Given the description of an element on the screen output the (x, y) to click on. 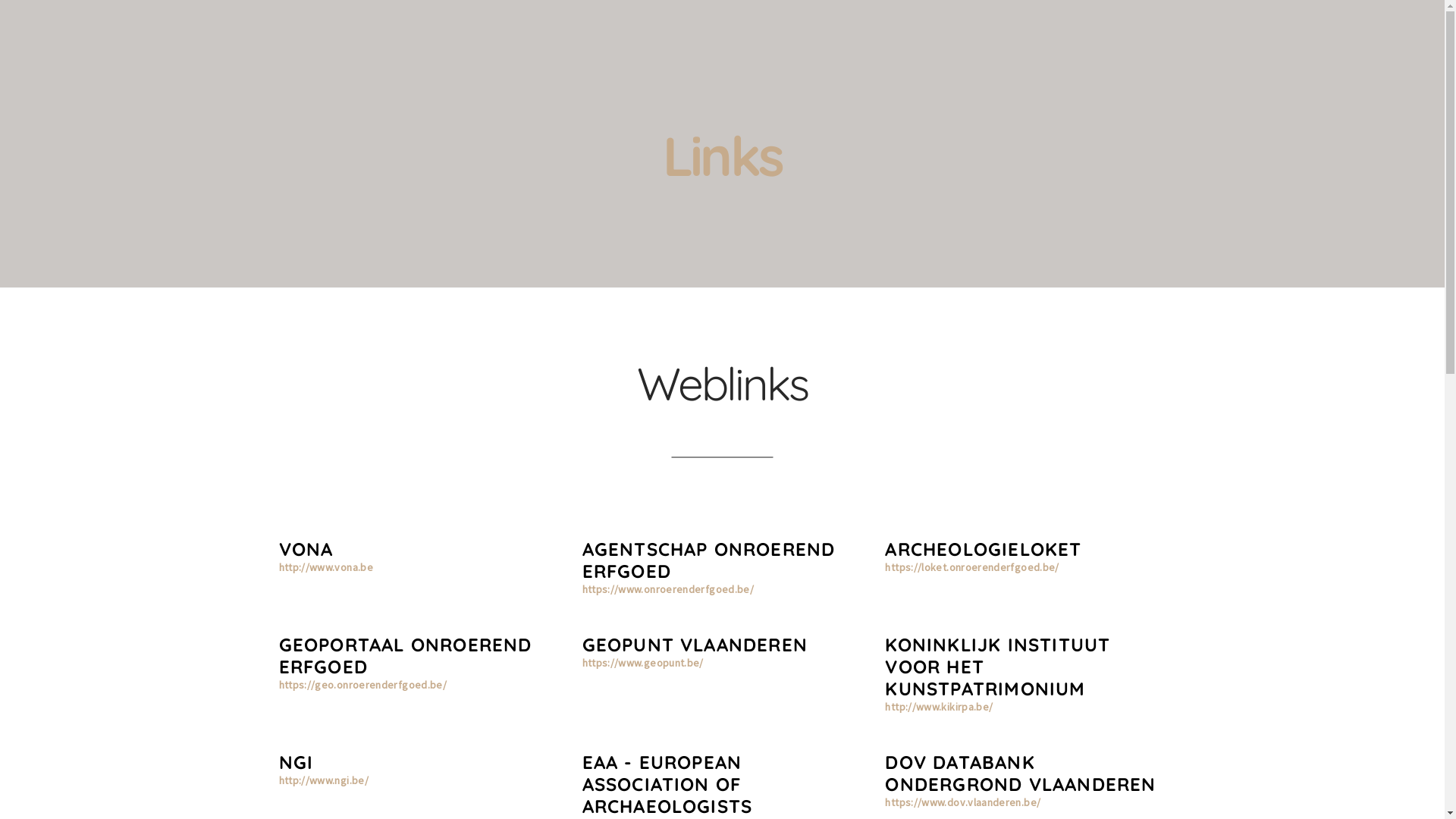
GEOPUNT VLAANDEREN Element type: text (695, 644)
KONINKLIJK INSTITUUT VOOR HET KUNSTPATRIMONIUM Element type: text (997, 666)
https://loket.onroerenderfgoed.be/ Element type: text (971, 567)
AGENTSCHAP ONROEREND ERFGOED Element type: text (708, 559)
VONA Element type: text (306, 548)
http://www.vona.be Element type: text (326, 567)
DOV DATABANK ONDERGROND VLAANDEREN Element type: text (1019, 772)
https://www.dov.vlaanderen.be/ Element type: text (962, 802)
http://www.kikirpa.be/ Element type: text (938, 706)
https://geo.onroerenderfgoed.be/ Element type: text (363, 684)
ARCHEOLOGIELOKET Element type: text (982, 548)
GEOPORTAAL ONROEREND ERFGOED Element type: text (405, 655)
NGI Element type: text (296, 761)
http://www.ngi.be/ Element type: text (323, 780)
https://www.onroerenderfgoed.be/ Element type: text (668, 589)
https://www.geopunt.be/ Element type: text (642, 662)
EAA - EUROPEAN ASSOCIATION OF ARCHAEOLOGISTS Element type: text (667, 783)
